Given the description of an element on the screen output the (x, y) to click on. 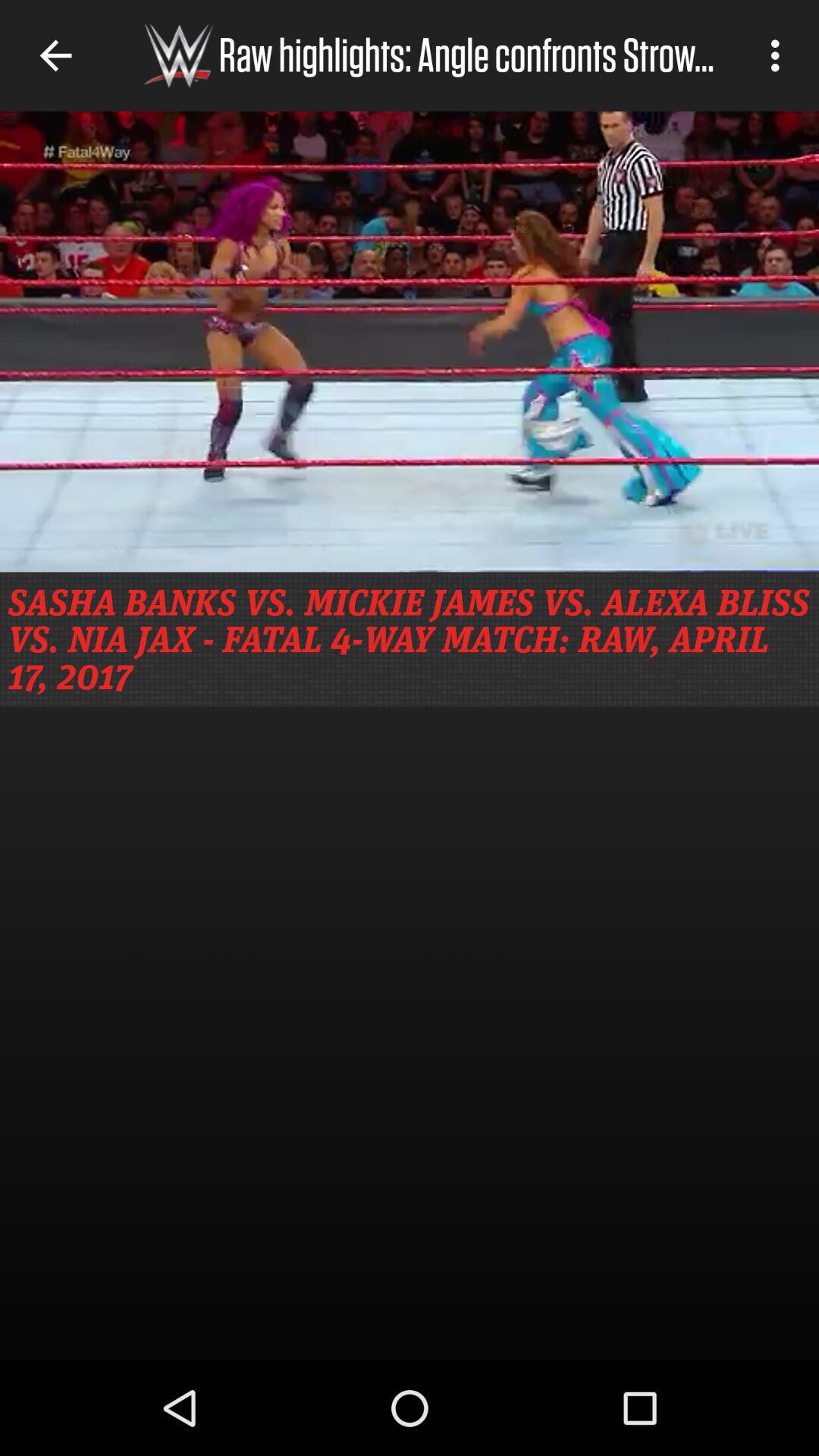
click icon next to the raw highlights angle item (779, 55)
